Given the description of an element on the screen output the (x, y) to click on. 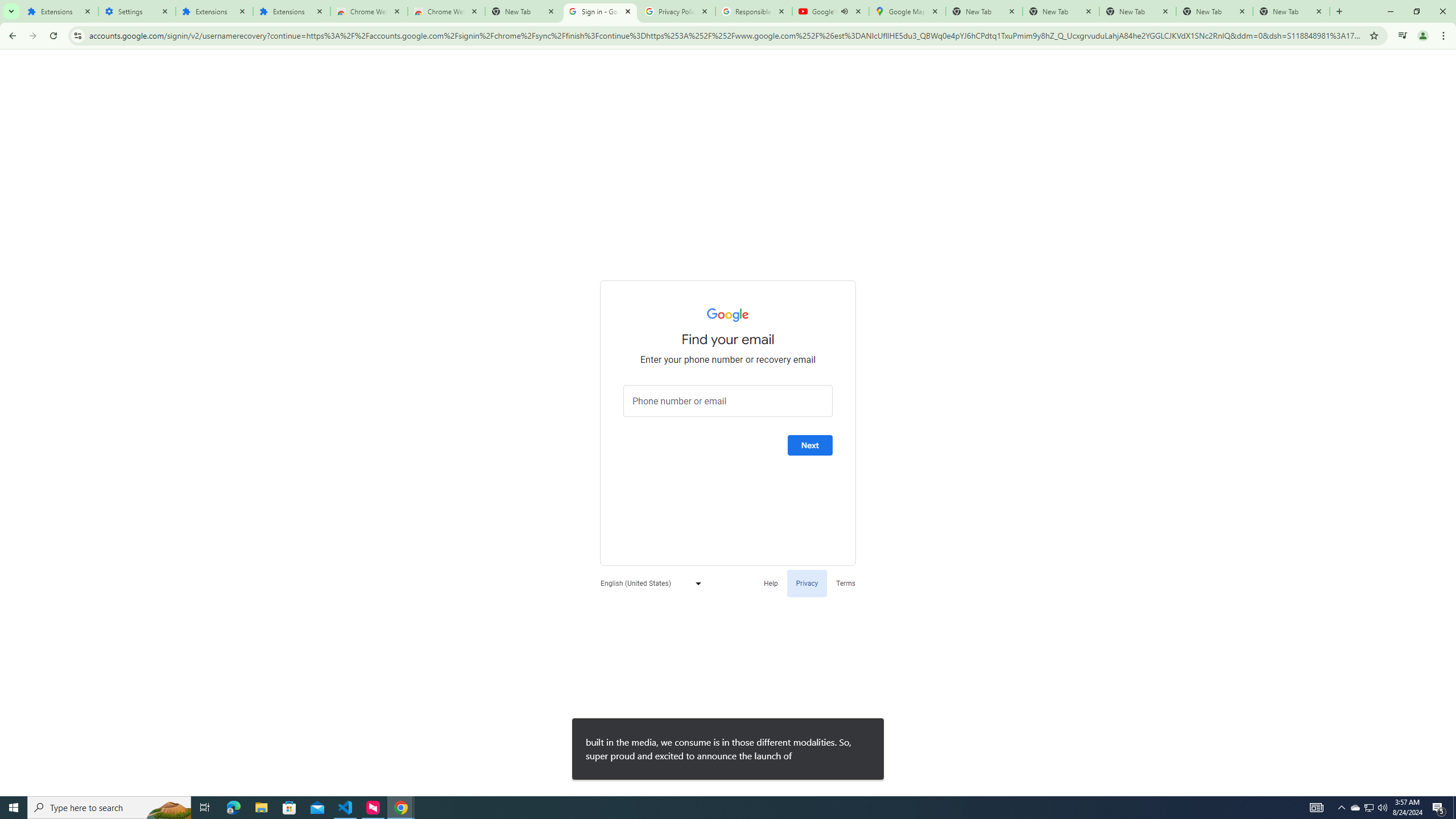
Sign in - Google Accounts (599, 11)
Help (770, 583)
Terms (845, 583)
Google Maps (906, 11)
Extensions (59, 11)
Mute tab (844, 10)
Control your music, videos, and more (1402, 35)
Chrome Web Store - Themes (446, 11)
